Given the description of an element on the screen output the (x, y) to click on. 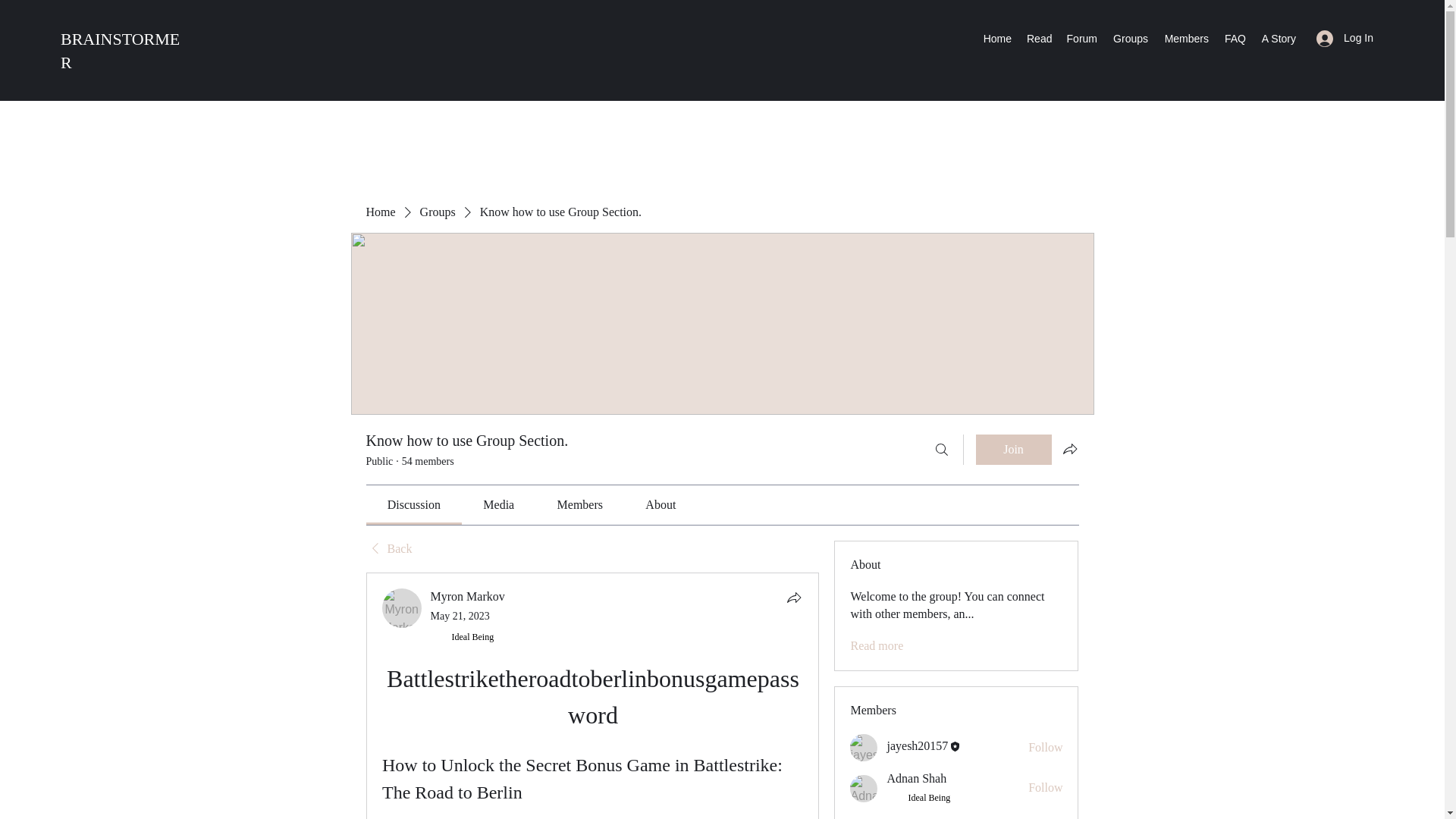
Back (388, 548)
Read (1038, 38)
jayesh20157 (916, 745)
jayesh20157 (863, 747)
Join (1013, 449)
BRAINSTORMER (120, 50)
A Story (1278, 38)
Members (1185, 38)
FAQ (1234, 38)
Groups (1130, 38)
Forum (1081, 38)
Adnan Shah (916, 778)
Log In (1345, 38)
Home (997, 38)
Follow (1044, 747)
